Given the description of an element on the screen output the (x, y) to click on. 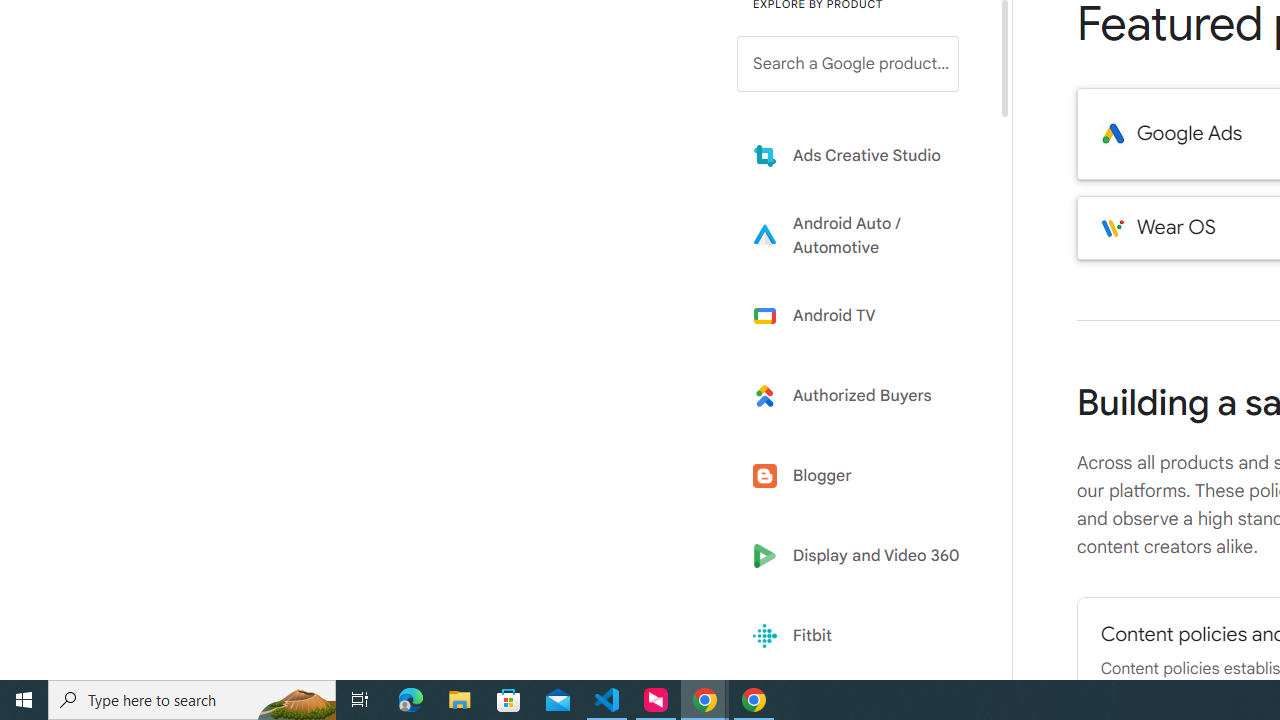
Fitbit (862, 636)
Display and Video 360 (862, 556)
Search a Google product from below list. (847, 64)
Fitbit (862, 636)
Learn more about Authorized Buyers (862, 395)
Learn more about Android TV (862, 315)
Learn more about Android TV (862, 315)
Learn more about Android Auto (862, 235)
Learn more about Ads Creative Studio (862, 155)
Learn more about Android Auto (862, 235)
Blogger (862, 476)
Display and Video 360 (862, 556)
Blogger (862, 476)
Learn more about Authorized Buyers (862, 395)
Learn more about Ads Creative Studio (862, 155)
